Given the description of an element on the screen output the (x, y) to click on. 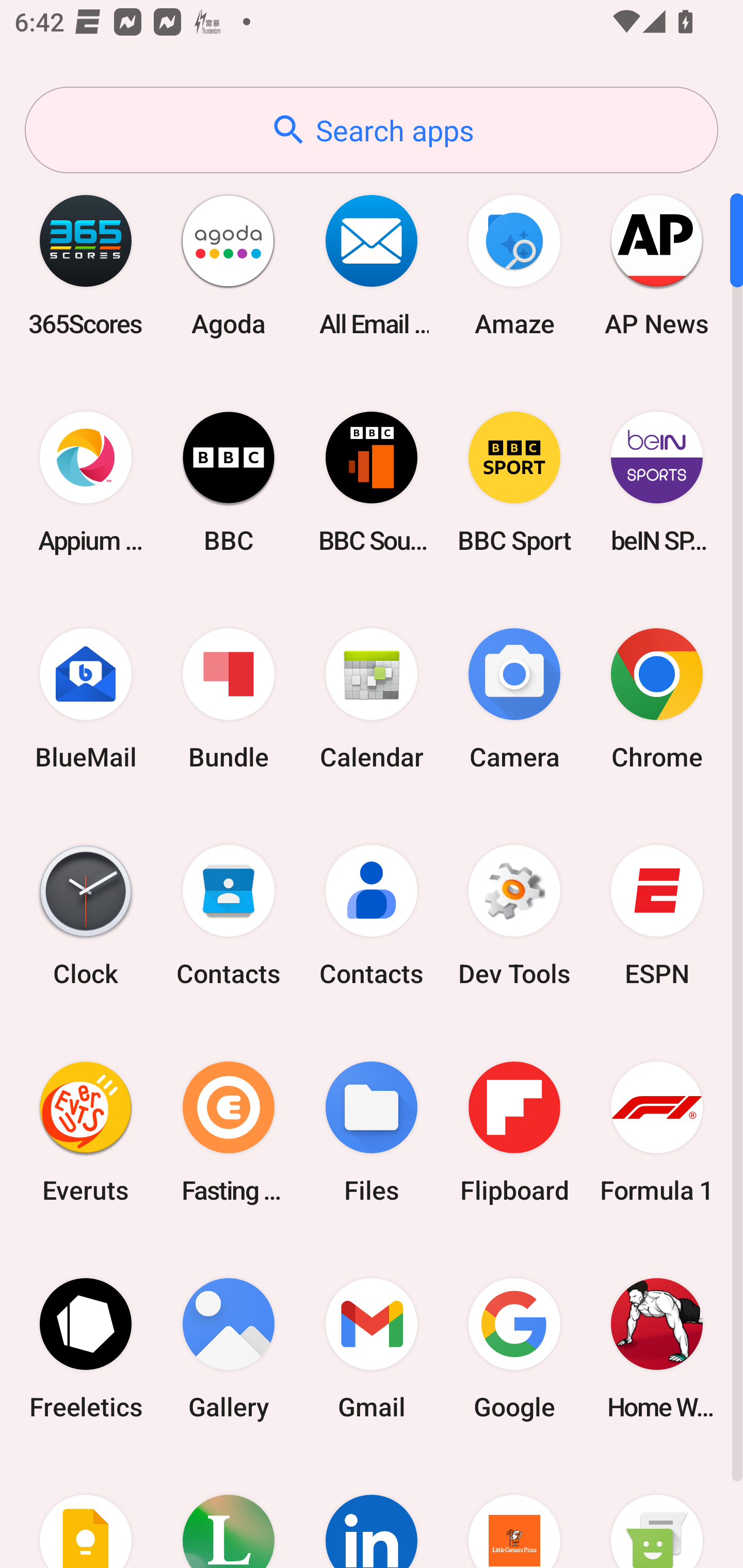
  Search apps (371, 130)
365Scores (85, 264)
Agoda (228, 264)
All Email Connect (371, 264)
Amaze (514, 264)
AP News (656, 264)
Appium Settings (85, 482)
BBC (228, 482)
BBC Sounds (371, 482)
BBC Sport (514, 482)
beIN SPORTS (656, 482)
BlueMail (85, 699)
Bundle (228, 699)
Calendar (371, 699)
Camera (514, 699)
Chrome (656, 699)
Clock (85, 915)
Contacts (228, 915)
Contacts (371, 915)
Dev Tools (514, 915)
ESPN (656, 915)
Everuts (85, 1131)
Fasting Coach (228, 1131)
Files (371, 1131)
Flipboard (514, 1131)
Formula 1 (656, 1131)
Freeletics (85, 1348)
Gallery (228, 1348)
Gmail (371, 1348)
Google (514, 1348)
Home Workout (656, 1348)
Keep Notes (85, 1512)
Lifesum (228, 1512)
LinkedIn (371, 1512)
Little Caesars Pizza (514, 1512)
Messaging (656, 1512)
